Given the description of an element on the screen output the (x, y) to click on. 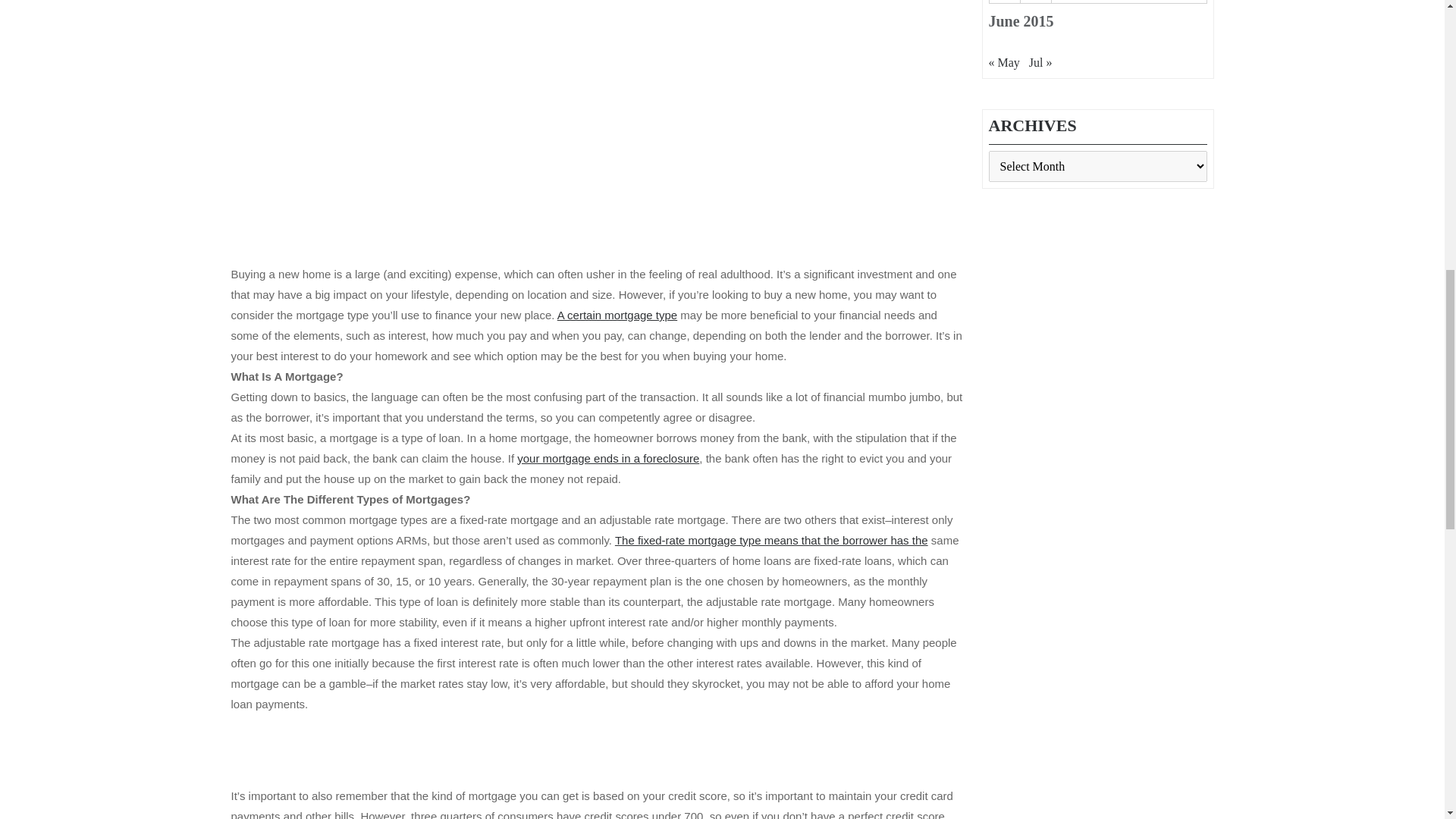
The fixed-rate mortgage type means that the borrower has the (771, 540)
your mortgage ends in a foreclosure (607, 458)
A certain mortgage type (617, 314)
Your mortgage (771, 540)
Long island mortgages and refinancing (607, 458)
Long island mortgages and refinancing (617, 314)
